Given the description of an element on the screen output the (x, y) to click on. 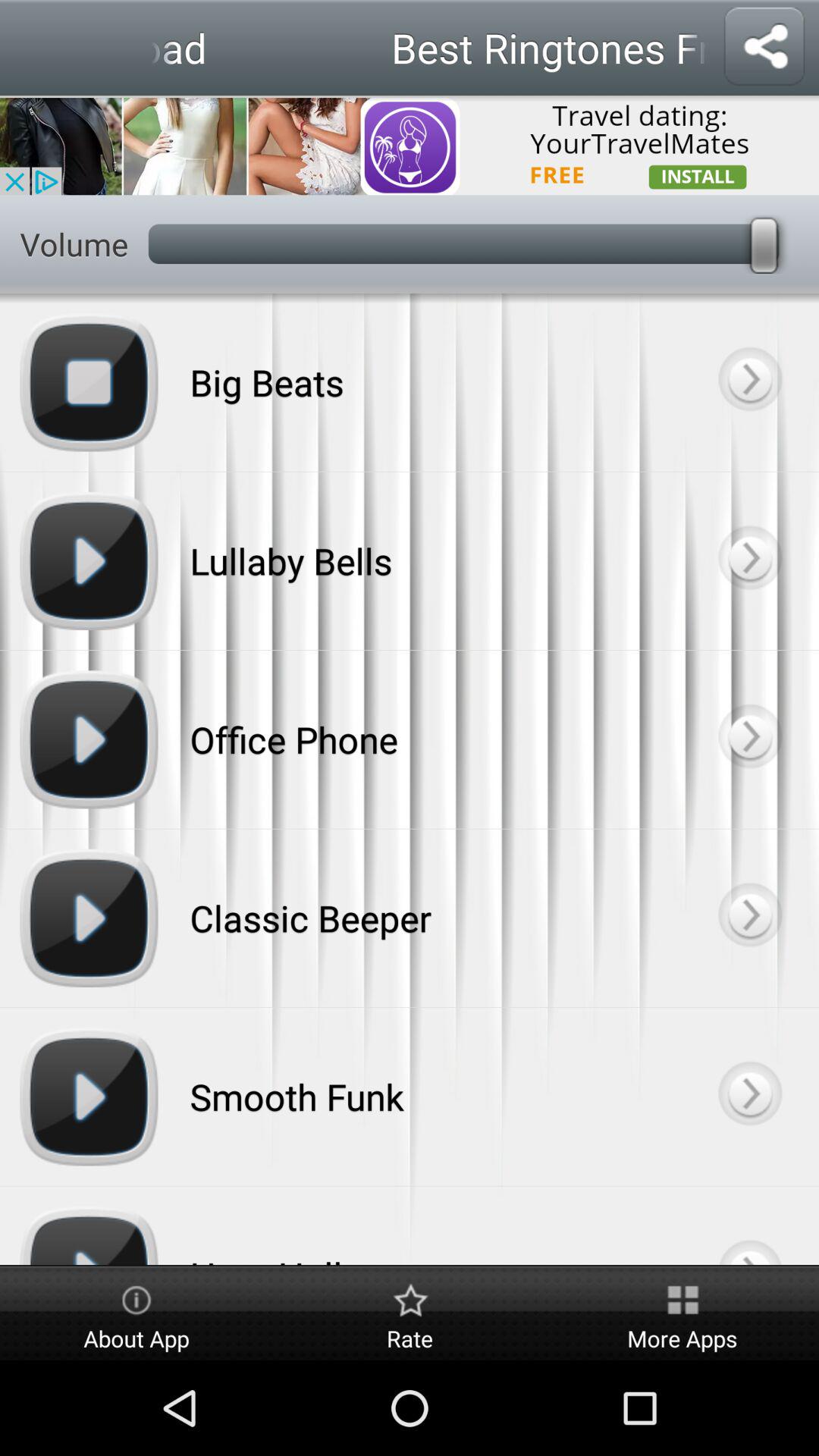
select the audio (749, 918)
